Given the description of an element on the screen output the (x, y) to click on. 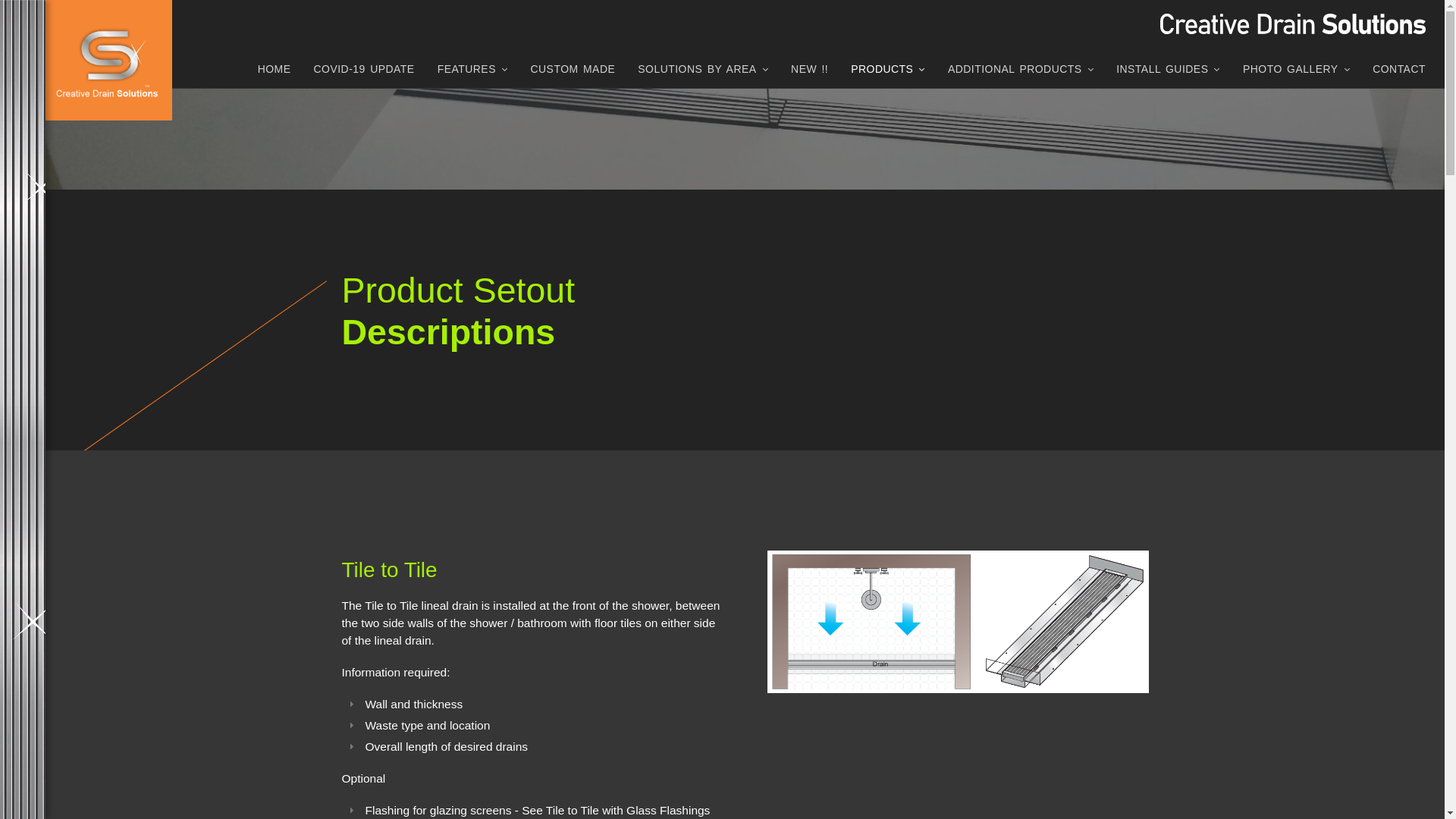
INSTALL GUIDES Element type: text (1167, 71)
HOME Element type: text (274, 71)
SOLUTIONS BY AREA Element type: text (702, 71)
COVID-19 UPDATE Element type: text (363, 71)
ADDITIONAL PRODUCTS Element type: text (1020, 71)
PHOTO GALLERY Element type: text (1296, 71)
CONTACT Element type: text (1399, 71)
CUSTOM MADE Element type: text (572, 71)
PRODUCTS Element type: text (887, 71)
NEW !! Element type: text (809, 71)
FEATURES Element type: text (472, 71)
